Given the description of an element on the screen output the (x, y) to click on. 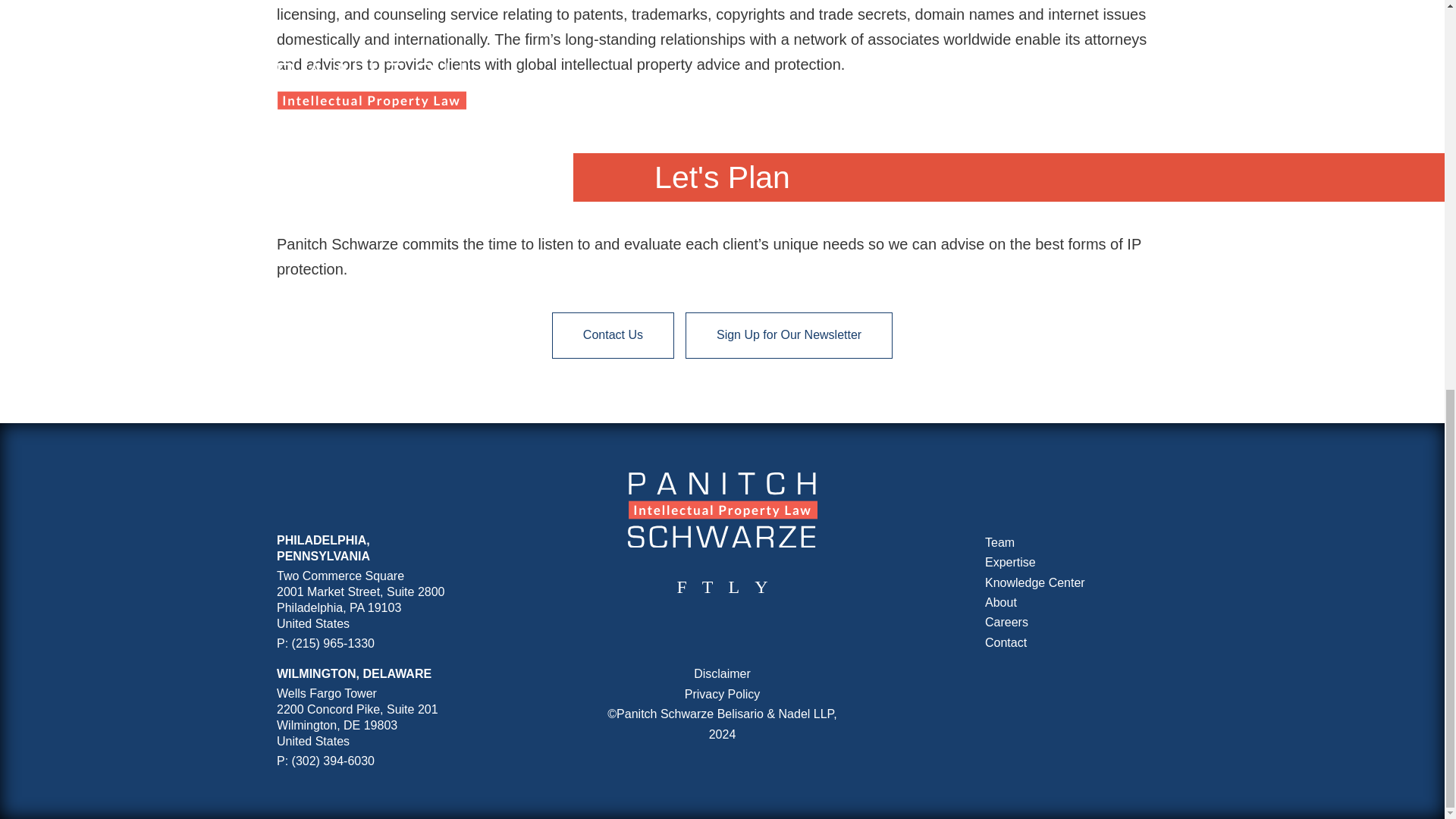
Disclaimer (722, 673)
Contact Us (612, 334)
Privacy Policy (722, 694)
Sign Up for Our Newsletter (788, 334)
